Given the description of an element on the screen output the (x, y) to click on. 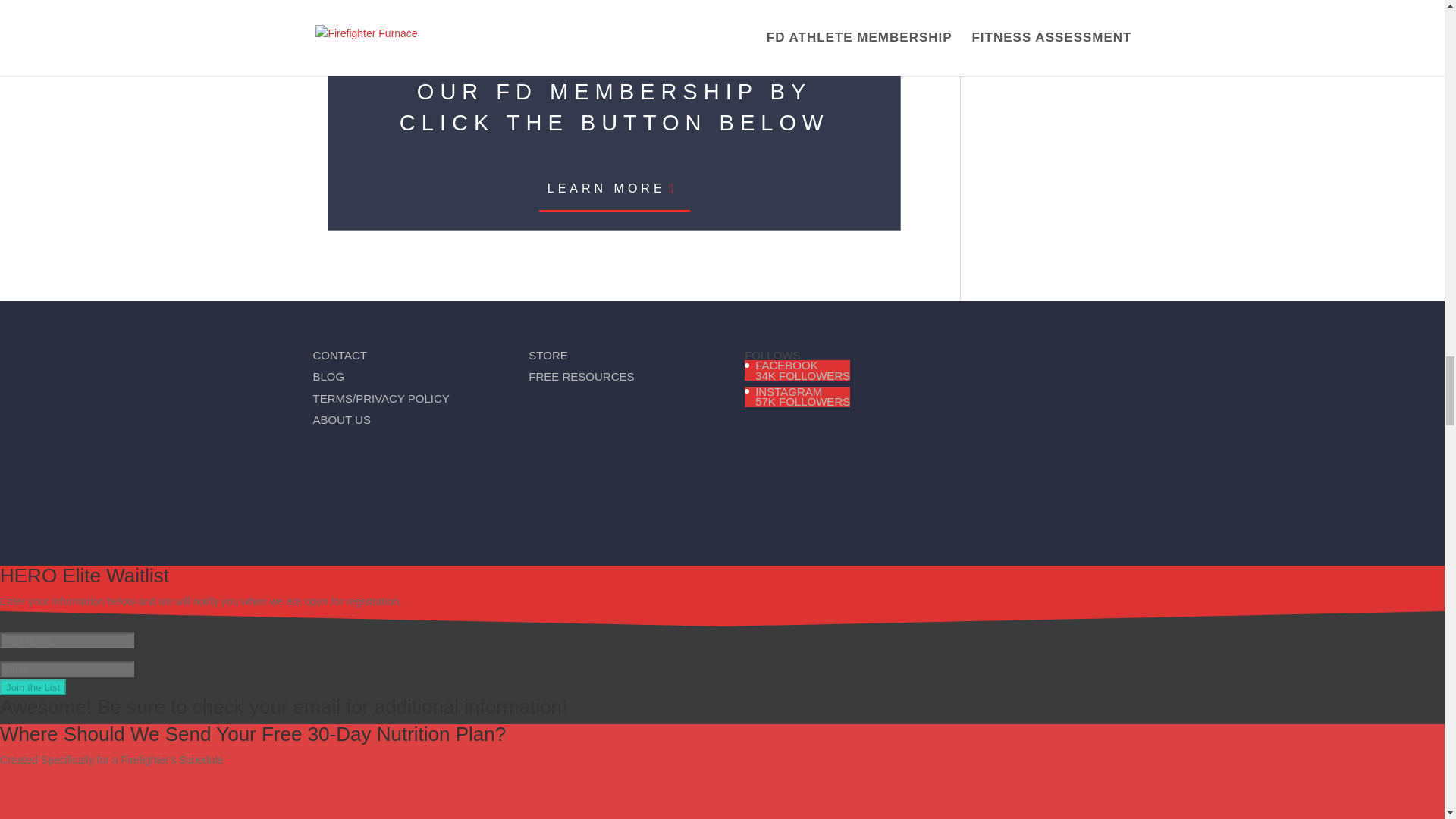
LEARN MORE (614, 188)
ABOUT US (802, 370)
BLOG (341, 419)
FREE RESOURCES  (328, 376)
Join the List (802, 396)
CONTACT (582, 376)
STORE (32, 687)
